Given the description of an element on the screen output the (x, y) to click on. 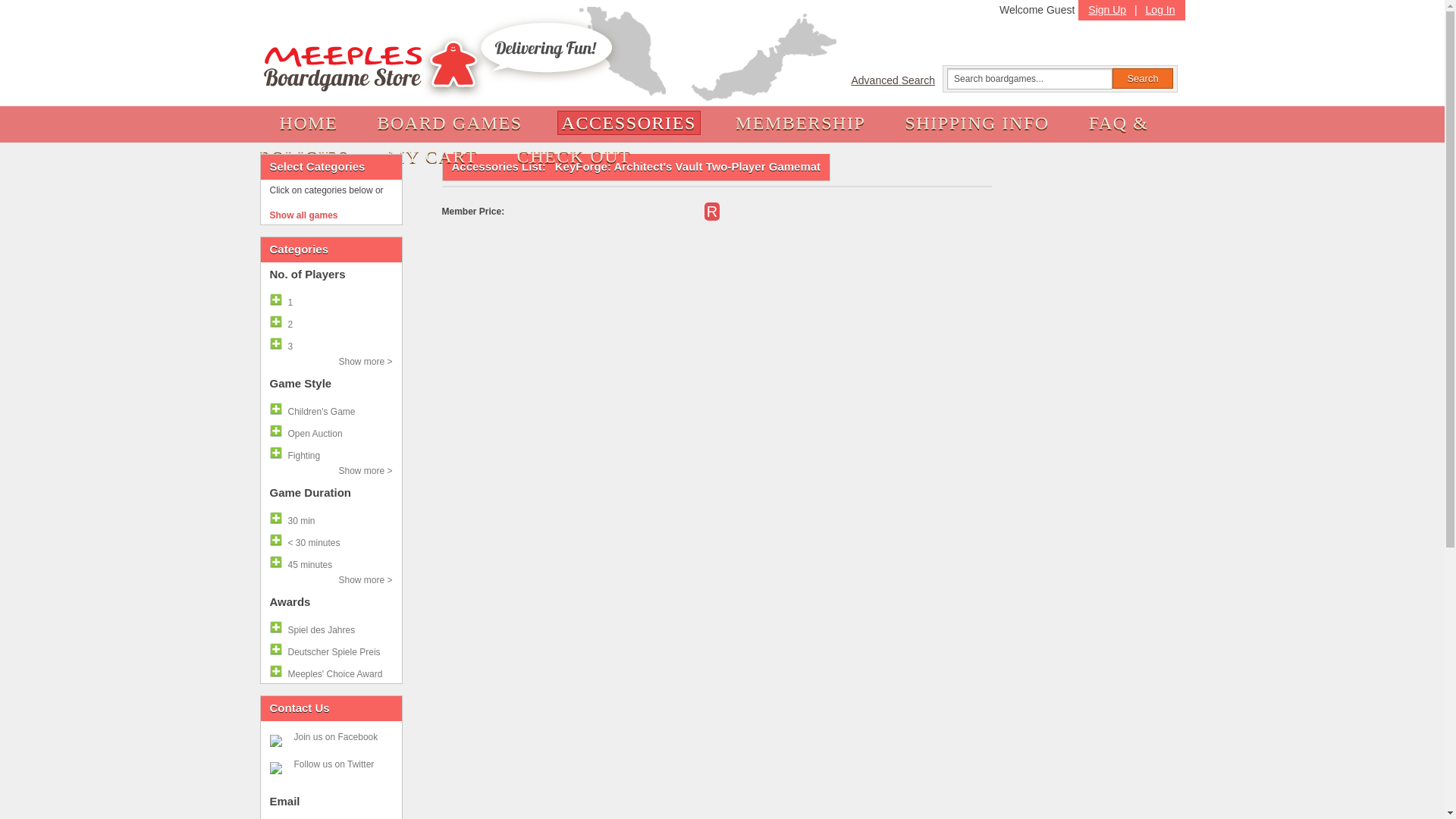
Search boardgames... (1029, 78)
HOME (308, 122)
Sign Up (1107, 7)
MY CART (432, 156)
SHIPPING INFO (975, 122)
1 (331, 299)
Search (1142, 77)
Search boardgames... (1029, 78)
Advanced Search (896, 80)
ACCESSORIES (628, 122)
2 (331, 321)
Fighting (331, 452)
Search (1142, 77)
Children's Game (331, 408)
Show all games (331, 215)
